Given the description of an element on the screen output the (x, y) to click on. 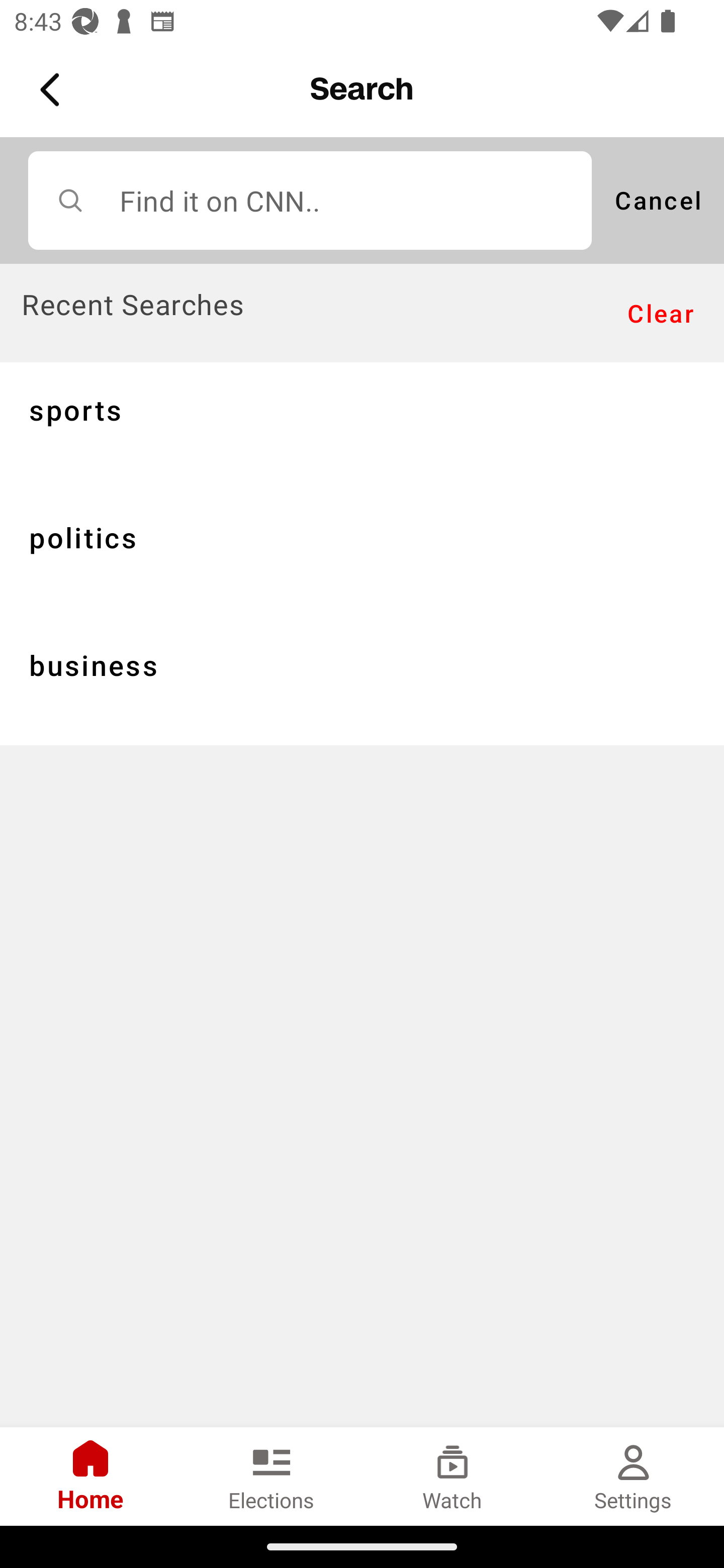
Back Button (52, 89)
Cancel (657, 199)
Find it on CNN.. (309, 199)
Clear (660, 313)
sports
 (362, 425)
politics
 (362, 553)
business
 (362, 680)
Elections (271, 1475)
Watch (452, 1475)
Settings (633, 1475)
